Given the description of an element on the screen output the (x, y) to click on. 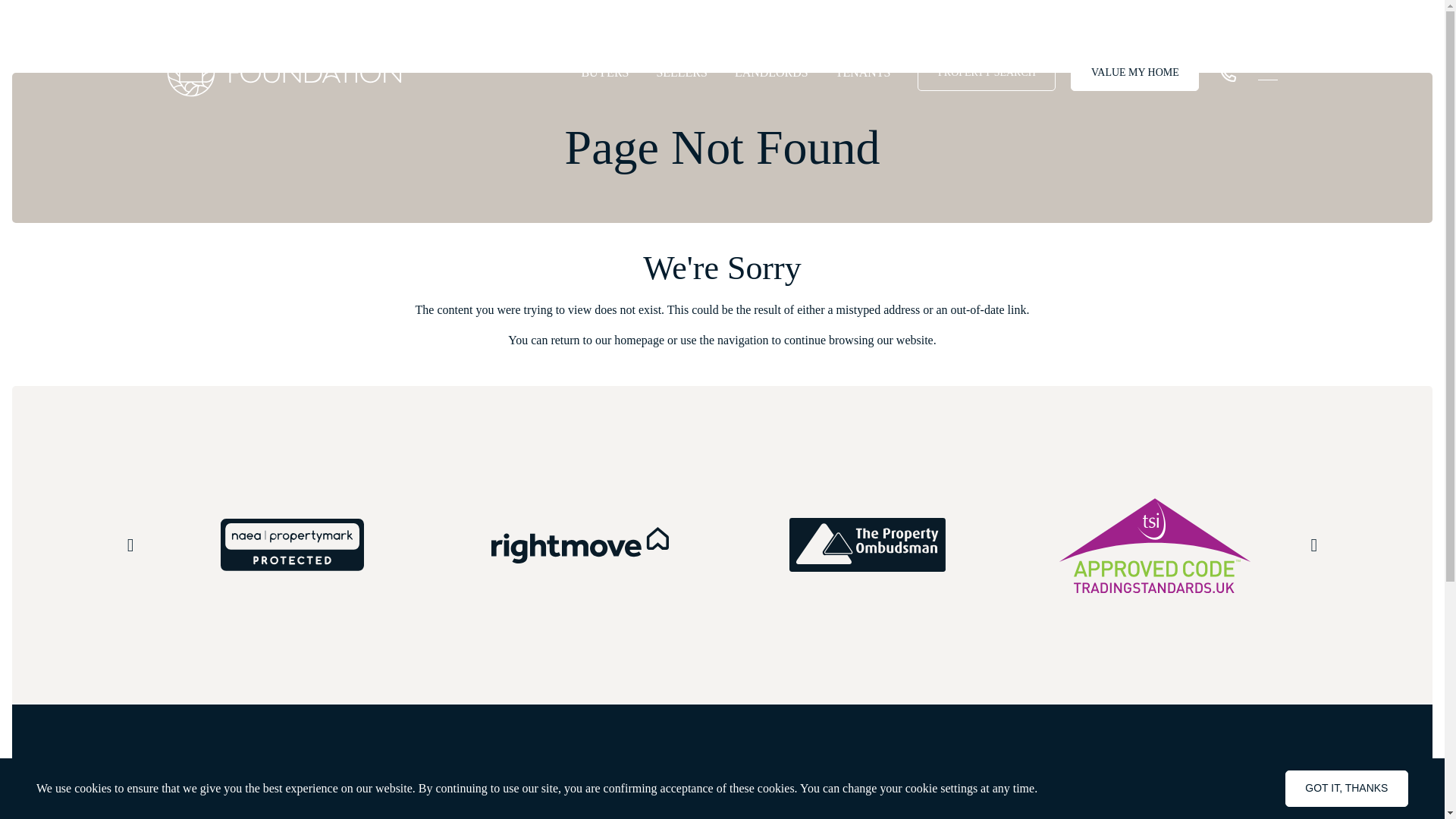
return to our homepage (608, 339)
SELLERS (681, 69)
BUYERS (604, 69)
VALUE MY HOME (1134, 72)
PROPERTY SEARCH (986, 72)
TENANTS (863, 69)
LANDLORDS (771, 69)
